Given the description of an element on the screen output the (x, y) to click on. 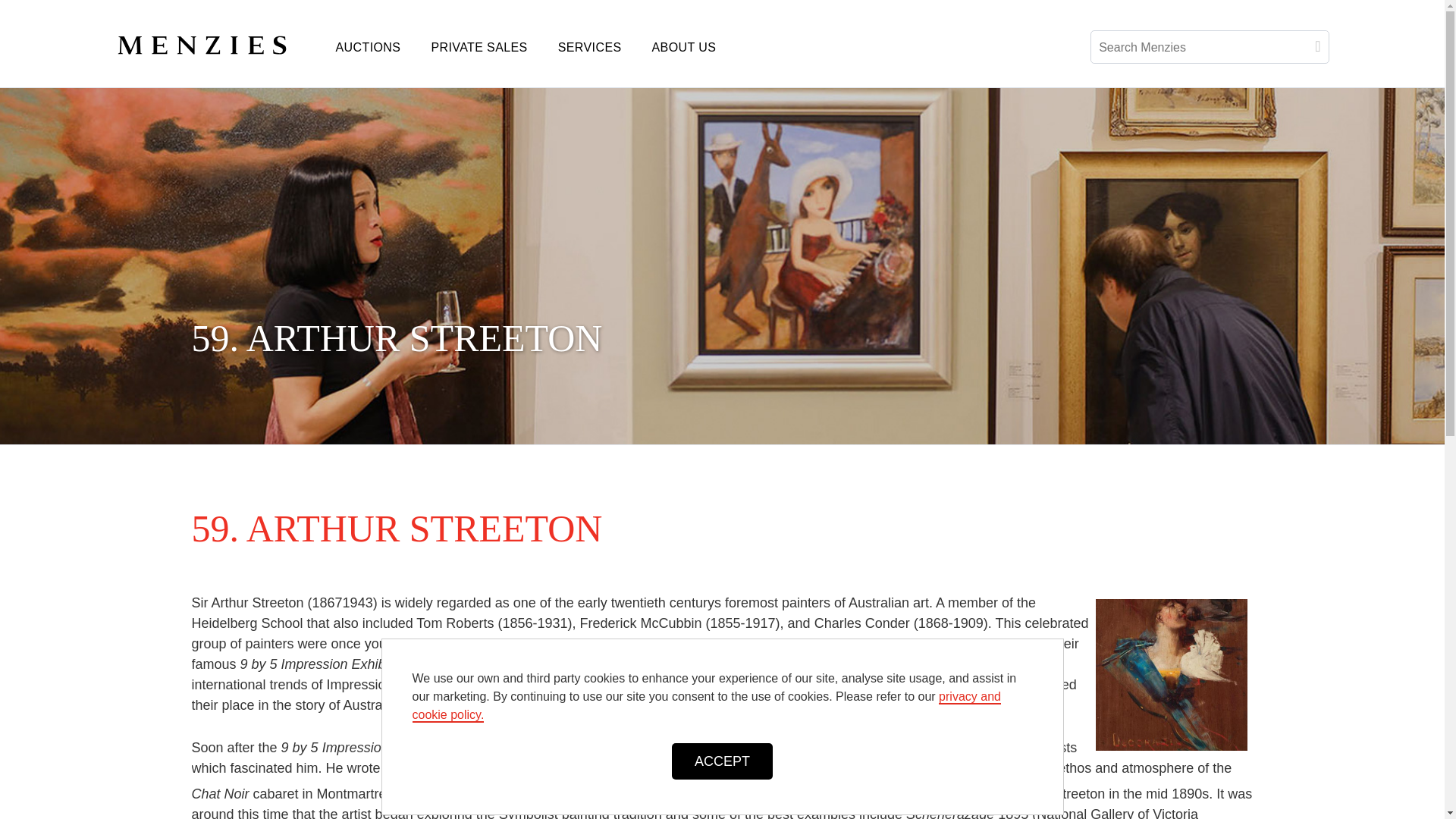
ABOUT US (684, 47)
AUCTIONS (367, 47)
SERVICES (590, 47)
PRIVATE SALES (477, 47)
Menzies Art Brands (217, 43)
